Given the description of an element on the screen output the (x, y) to click on. 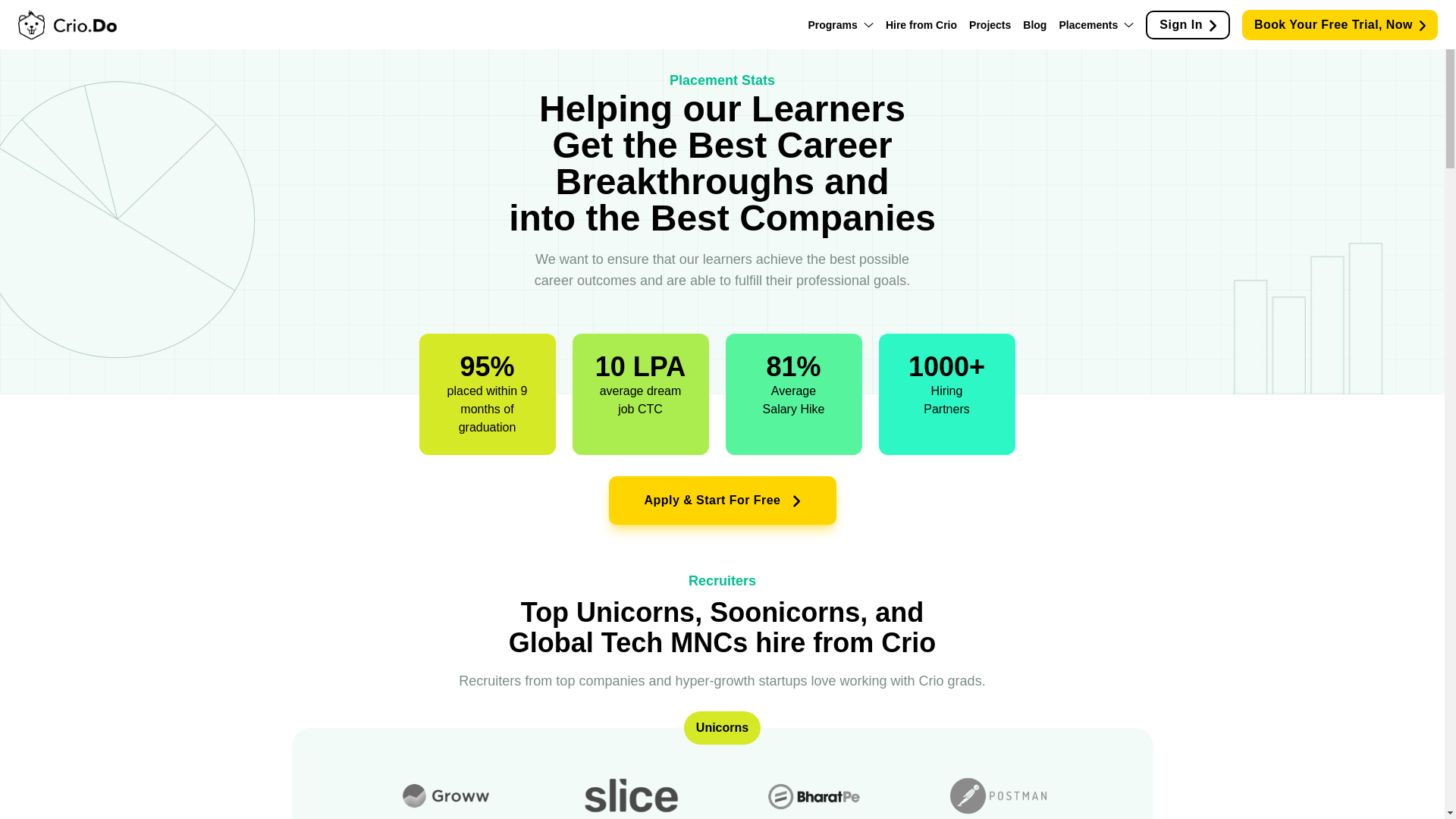
Hire from Crio (920, 23)
Sign In (1187, 24)
Projects (989, 23)
Book Your Free Trial, Now (1339, 24)
Blog (1034, 23)
